Given the description of an element on the screen output the (x, y) to click on. 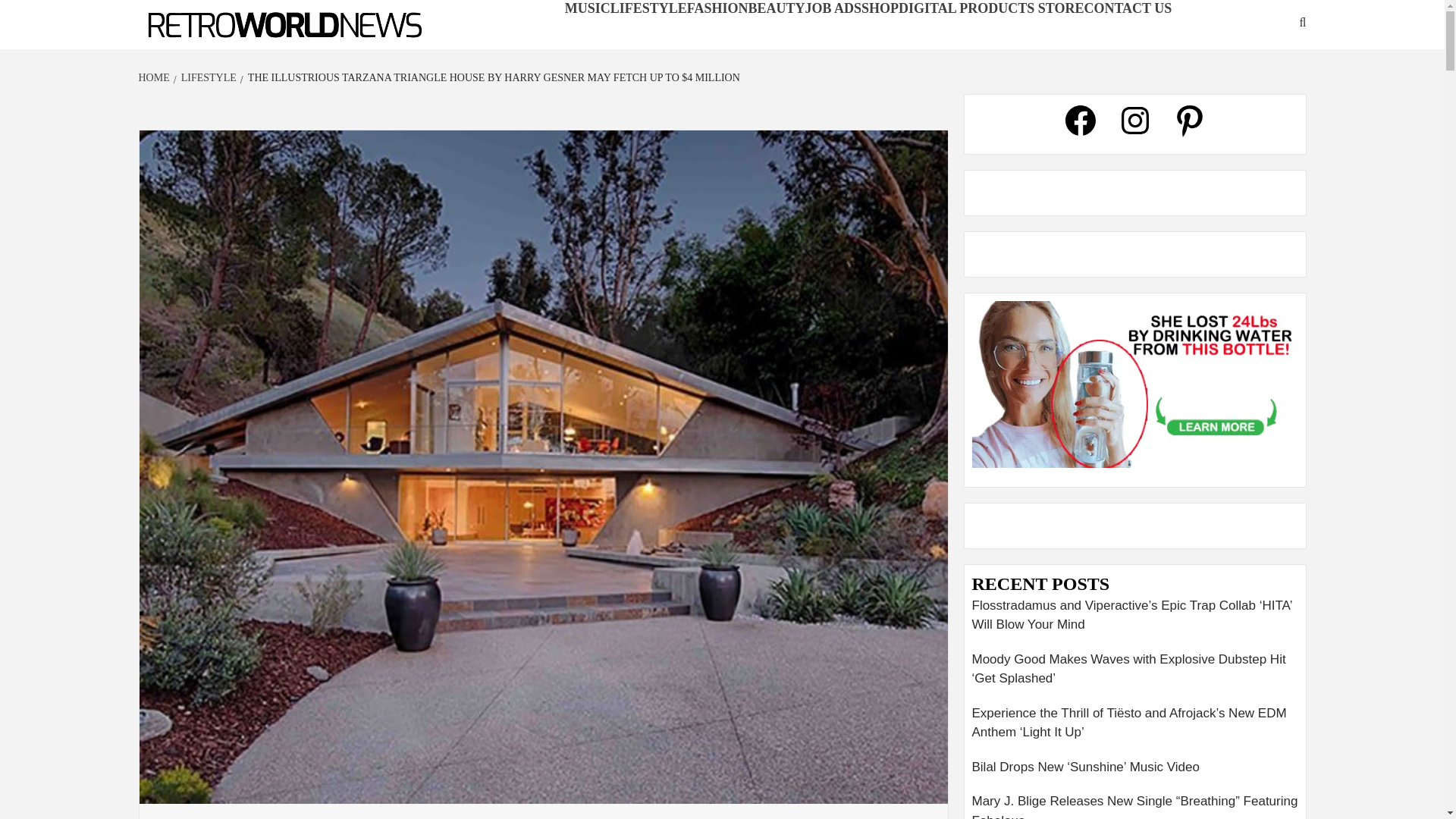
CONTACT US (1127, 7)
HOME (155, 77)
SHOP (879, 7)
JOB ADS (833, 7)
RETROWORLDNEWS (223, 48)
DIGITAL PRODUCTS STORE (990, 7)
LIFESTYLE (206, 77)
BEAUTY (776, 7)
MUSIC (587, 7)
LIFESTYLE (648, 7)
